Given the description of an element on the screen output the (x, y) to click on. 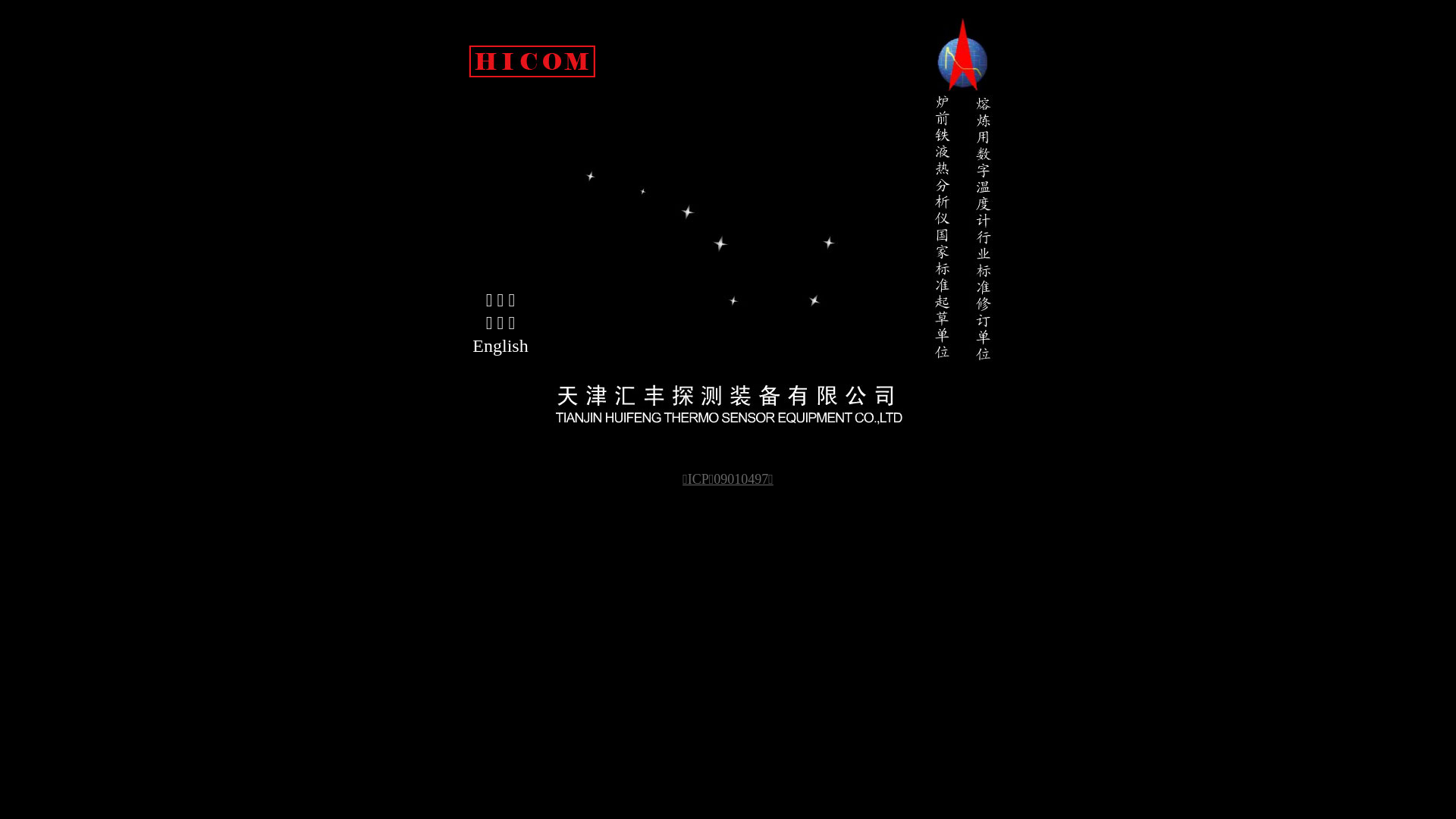
English Element type: text (500, 345)
